Given the description of an element on the screen output the (x, y) to click on. 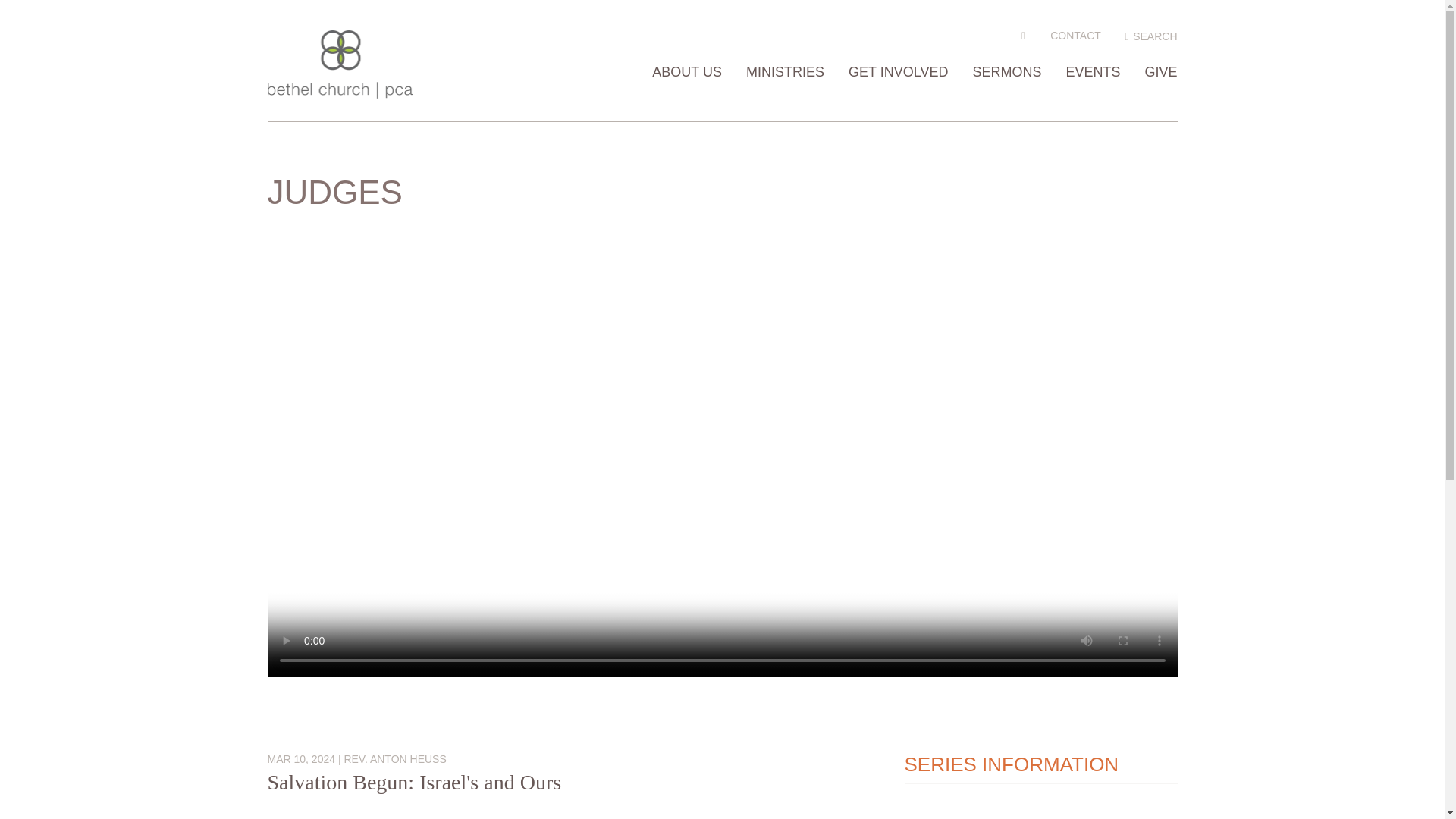
ABOUT US (687, 93)
Contact (1074, 35)
SERMONS (1006, 93)
EVENTS (1092, 93)
GIVE (1160, 93)
MINISTRIES (784, 93)
CONTACT (1074, 35)
Facebook (1024, 35)
GET INVOLVED (897, 93)
